Given the description of an element on the screen output the (x, y) to click on. 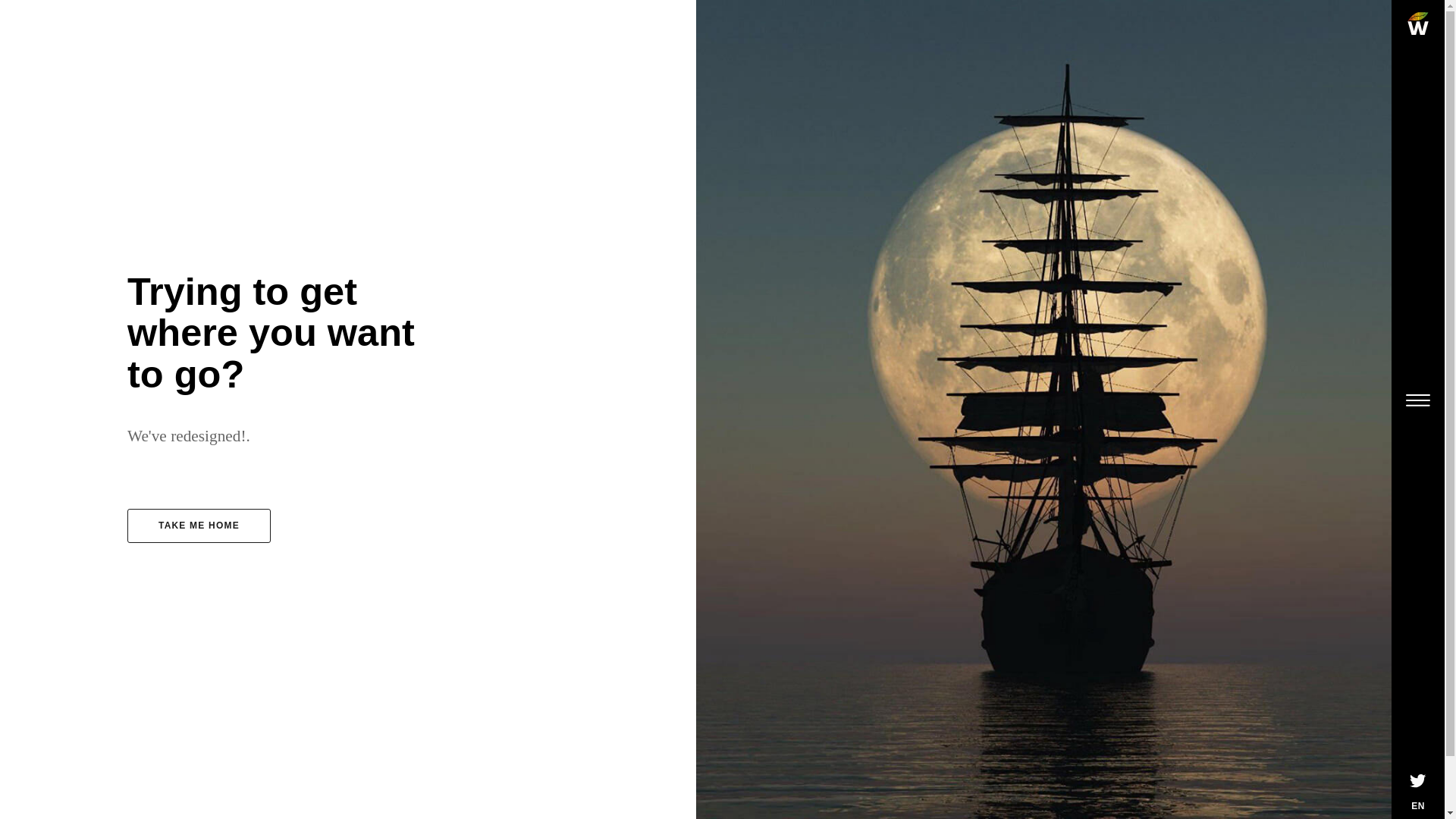
TAKE ME HOME (199, 525)
